Given the description of an element on the screen output the (x, y) to click on. 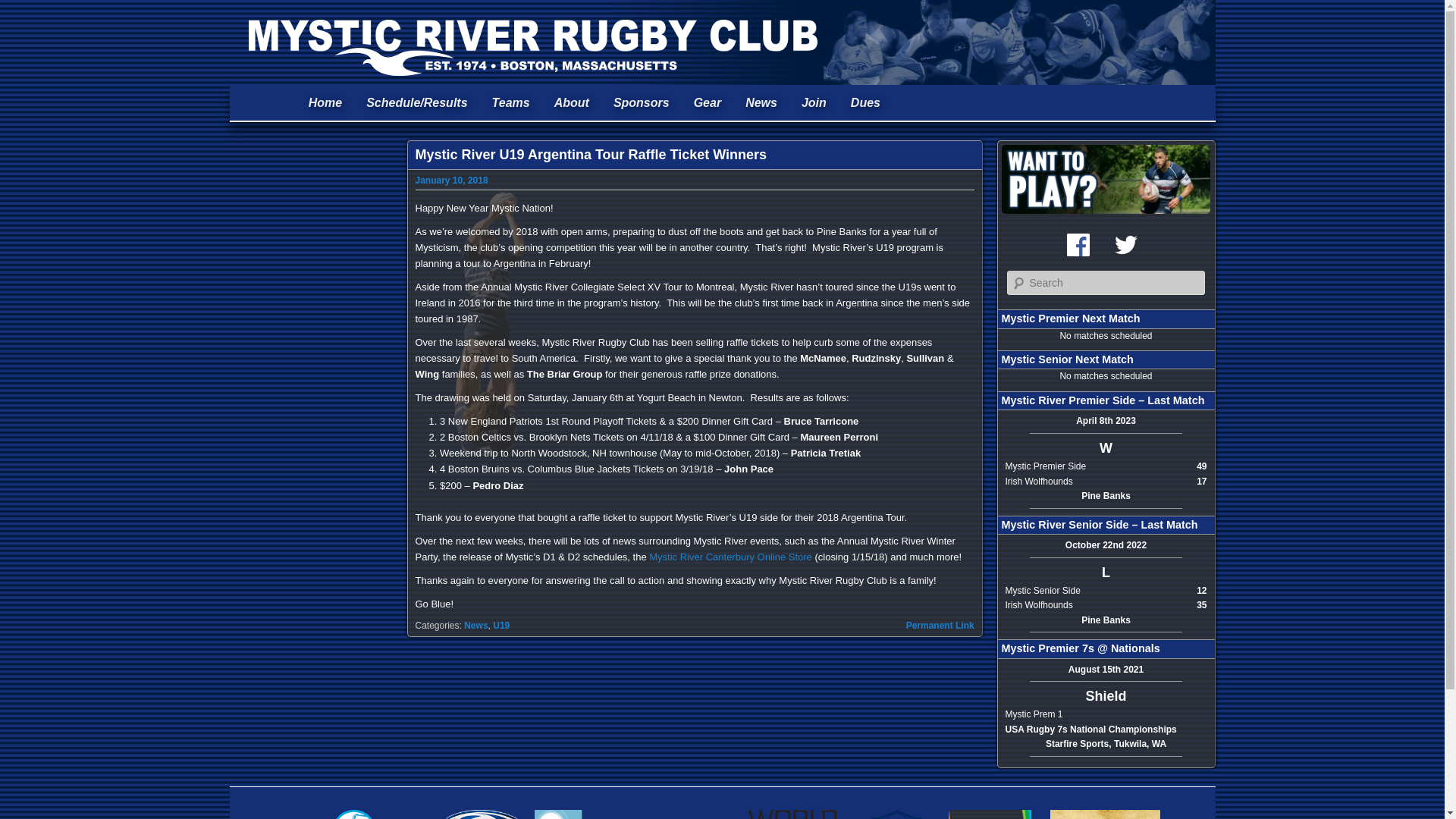
Mystic River on Facebook (1078, 244)
WRS (795, 810)
Mystic River Canterbury Online Store (730, 556)
News (475, 624)
Kit from Canterbury USA (707, 103)
Permanent Link (939, 625)
USA Rugby 7s National Championships (1091, 728)
USA Rugby (478, 810)
integratedbuilders (895, 810)
Dues (865, 103)
Gear (707, 103)
Home (325, 103)
Join (813, 103)
U19 (501, 624)
